Given the description of an element on the screen output the (x, y) to click on. 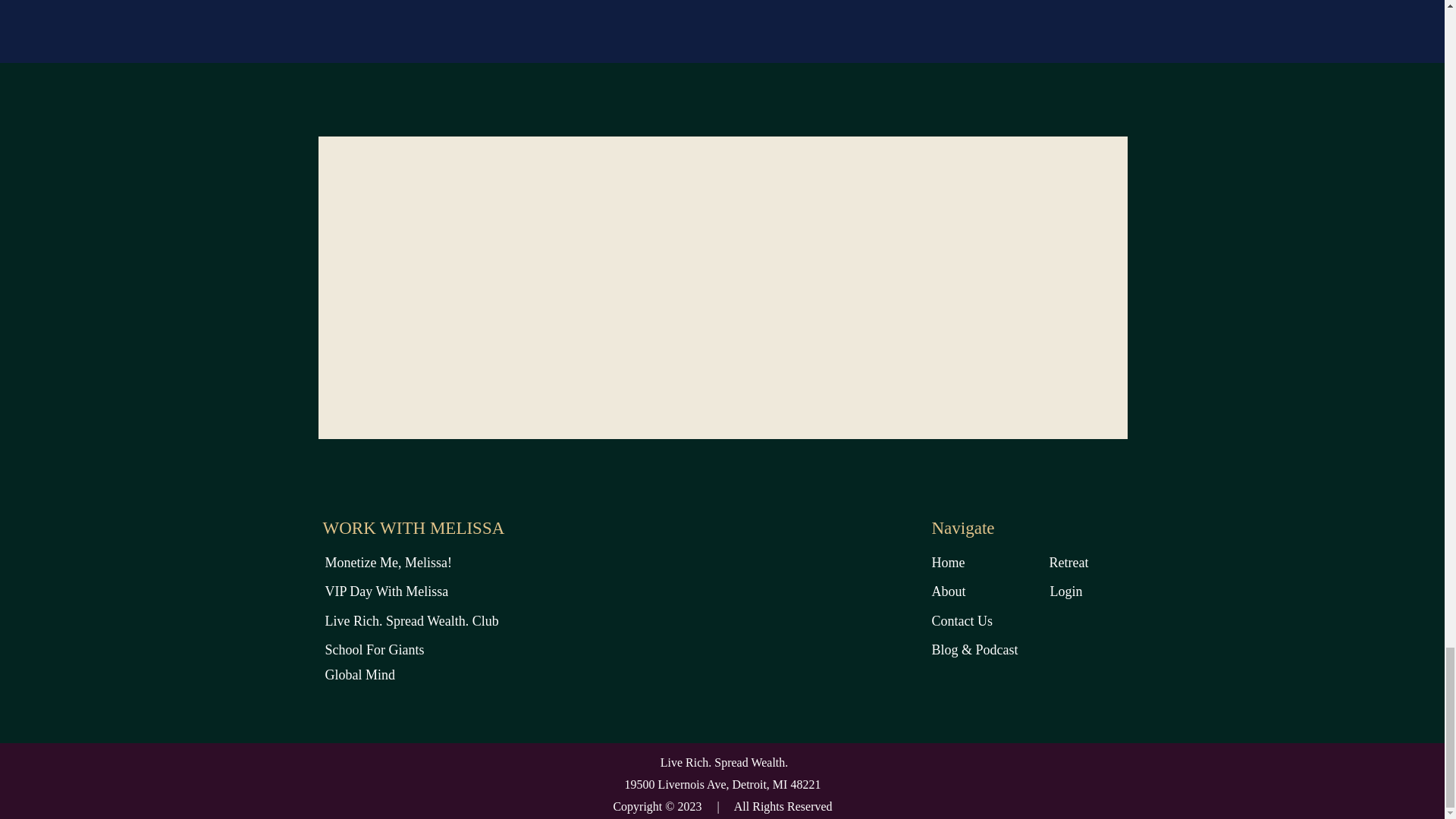
Global Mind (461, 671)
VIP Day With Melissa (442, 588)
Home (1049, 559)
Live Rich. Spread Wealth. Club (461, 617)
About (1049, 588)
Login (1186, 588)
WORK WITH MELISSA (419, 527)
Retreat (1186, 559)
Contact Us (1068, 617)
Monetize Me, Melissa! (442, 559)
School For Giants (461, 646)
